Given the description of an element on the screen output the (x, y) to click on. 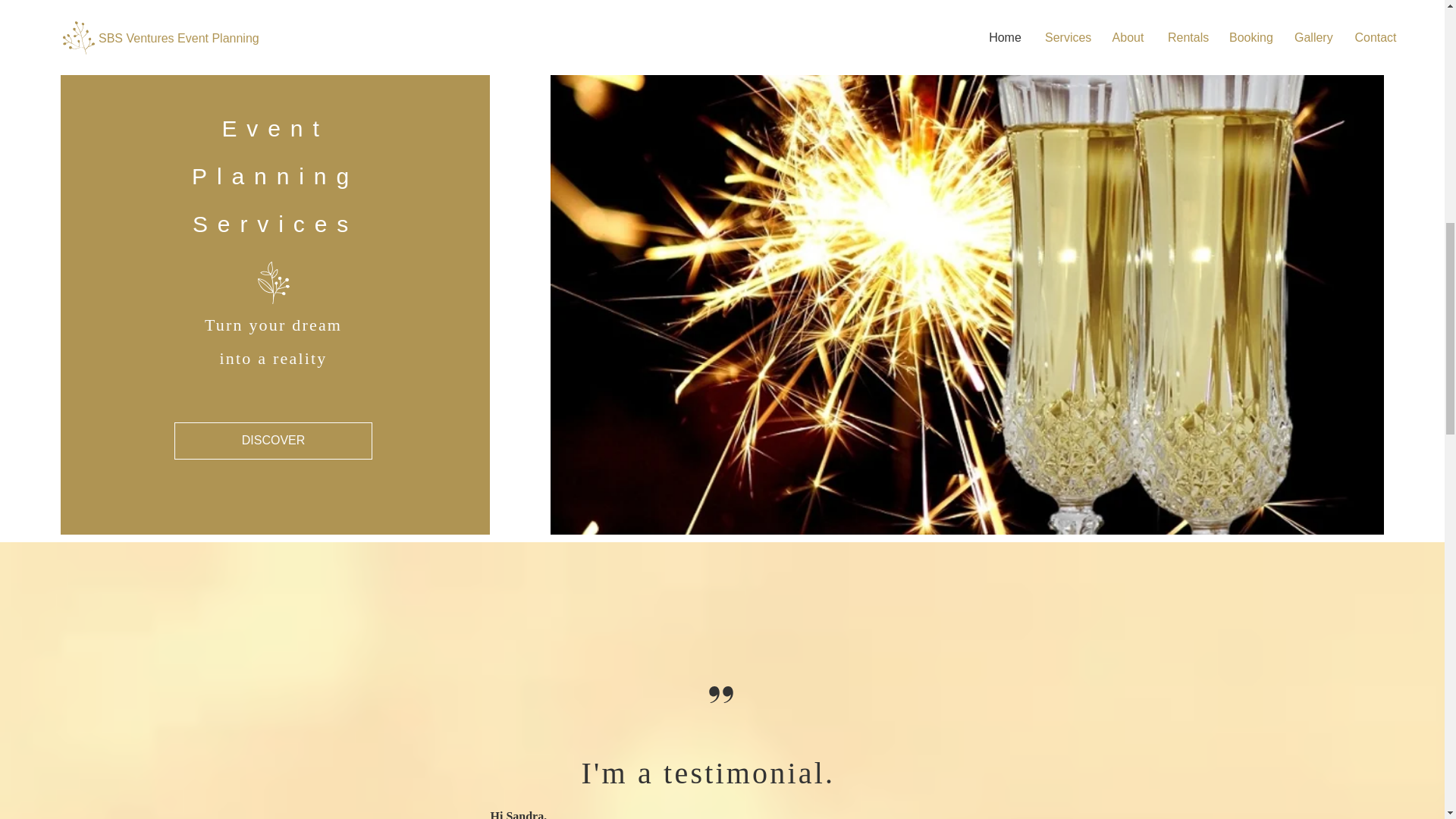
DISCOVER (273, 440)
